Given the description of an element on the screen output the (x, y) to click on. 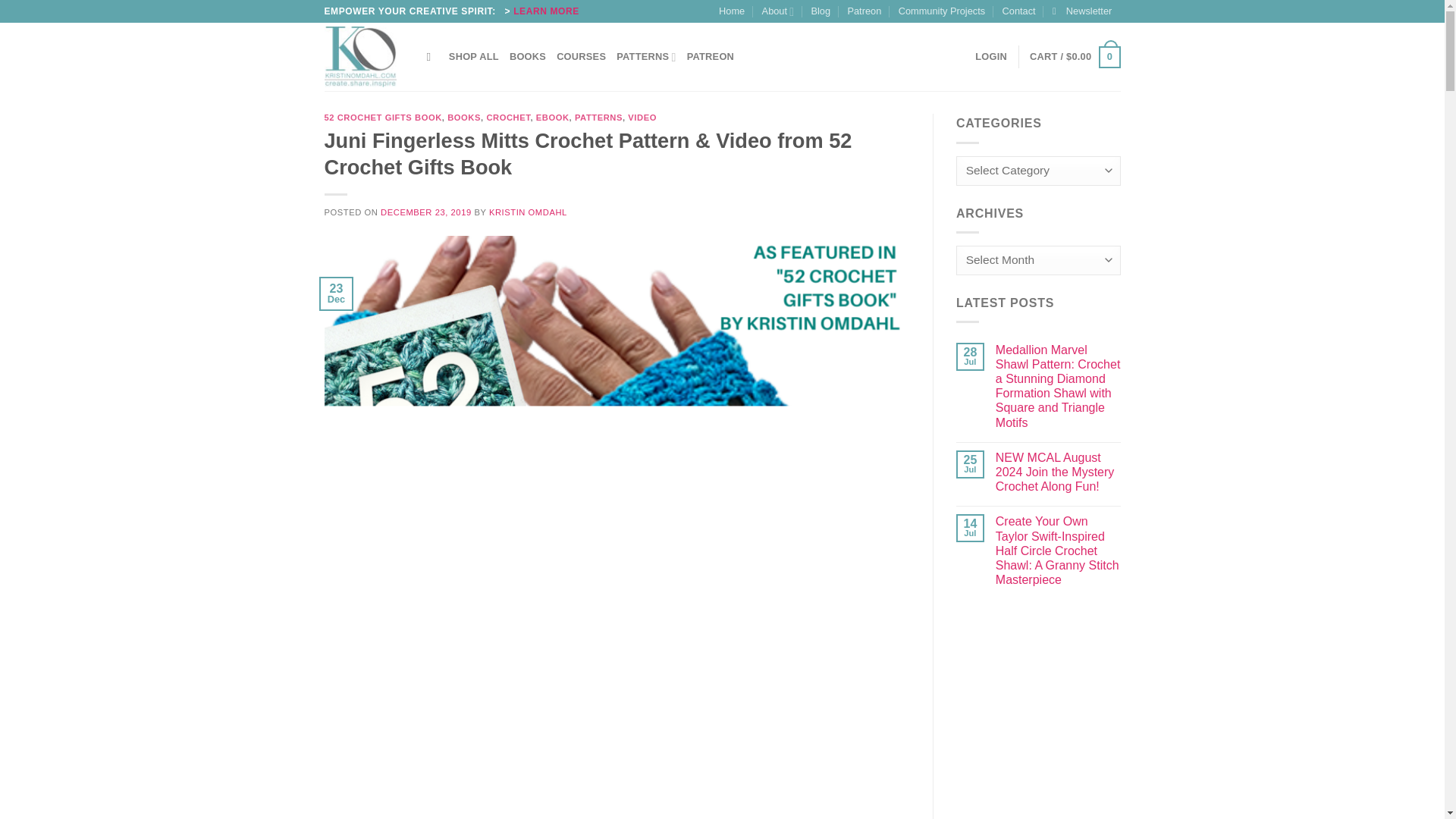
BOOKS (527, 56)
LEARN MORE (546, 10)
Patreon (863, 11)
Newsletter (1082, 11)
About (777, 11)
COURSES (580, 56)
PATREON (710, 56)
NEW MCAL August 2024 Join the Mystery Crochet Along Fun! (1058, 472)
Sign Up Today (1082, 11)
SHOP ALL (473, 56)
PATTERNS (645, 56)
Home (731, 11)
Contact (1019, 11)
Cart (1074, 57)
